Given the description of an element on the screen output the (x, y) to click on. 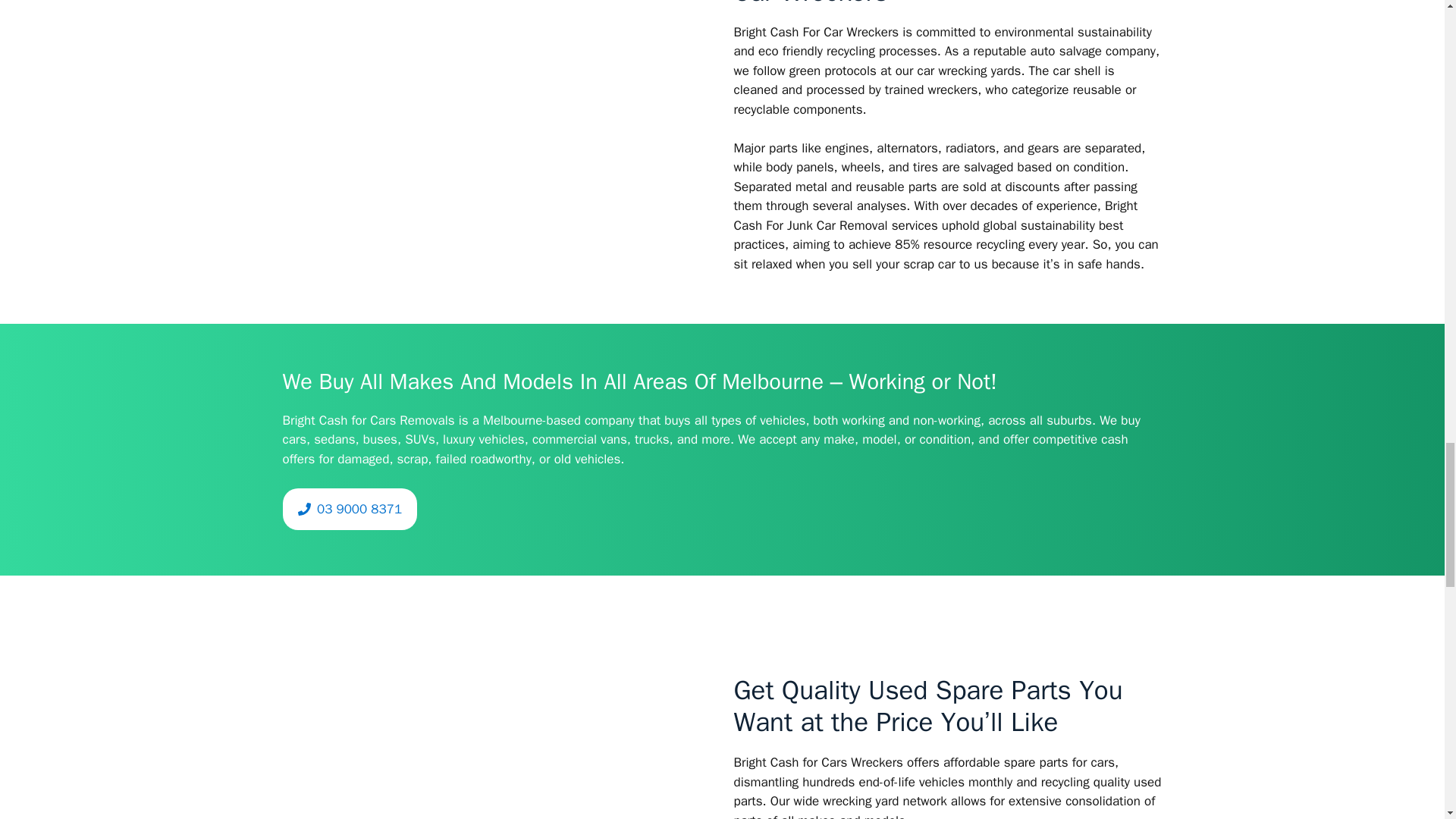
03 9000 8371 (349, 509)
